Given the description of an element on the screen output the (x, y) to click on. 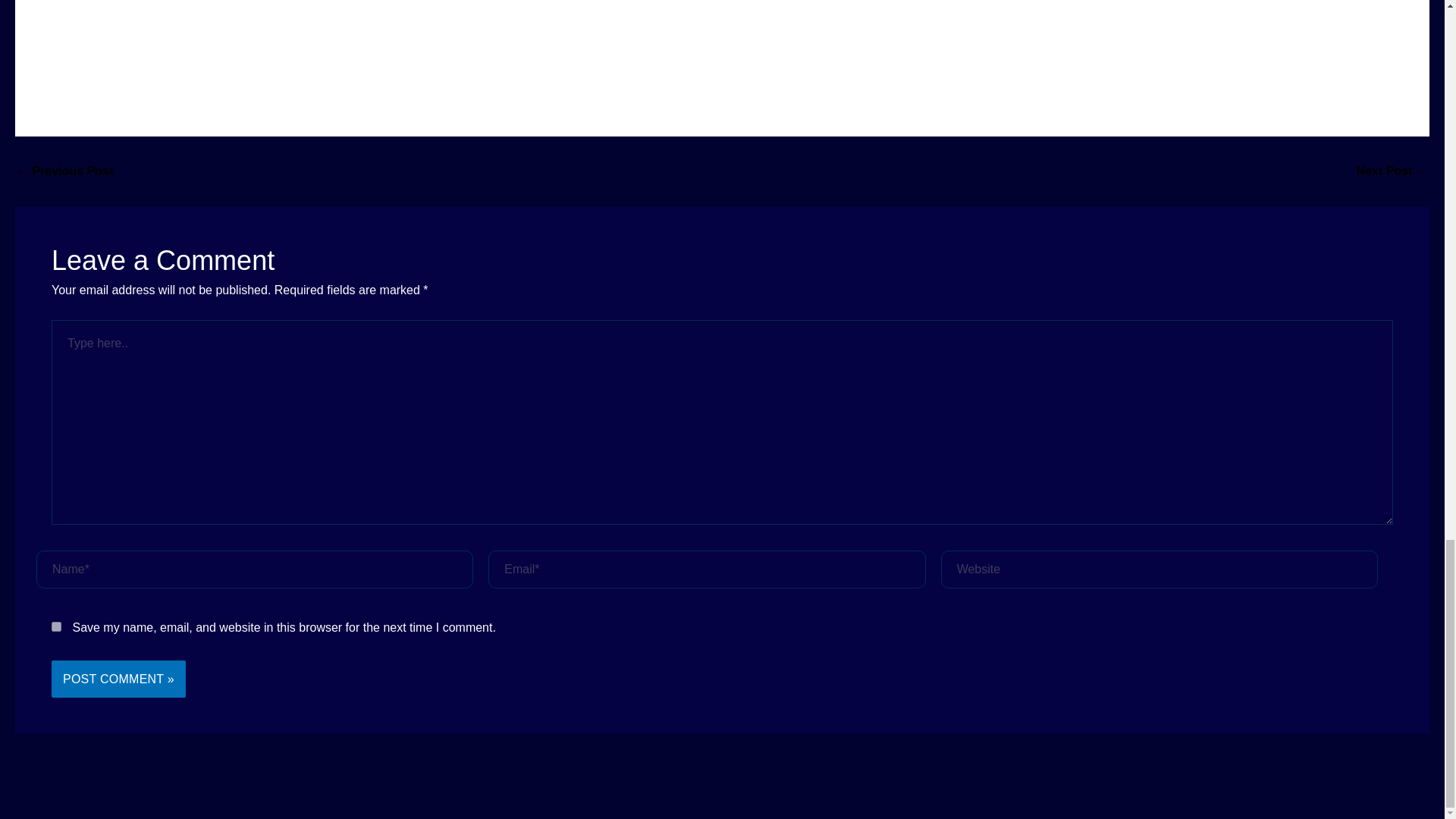
yes (55, 626)
